Given the description of an element on the screen output the (x, y) to click on. 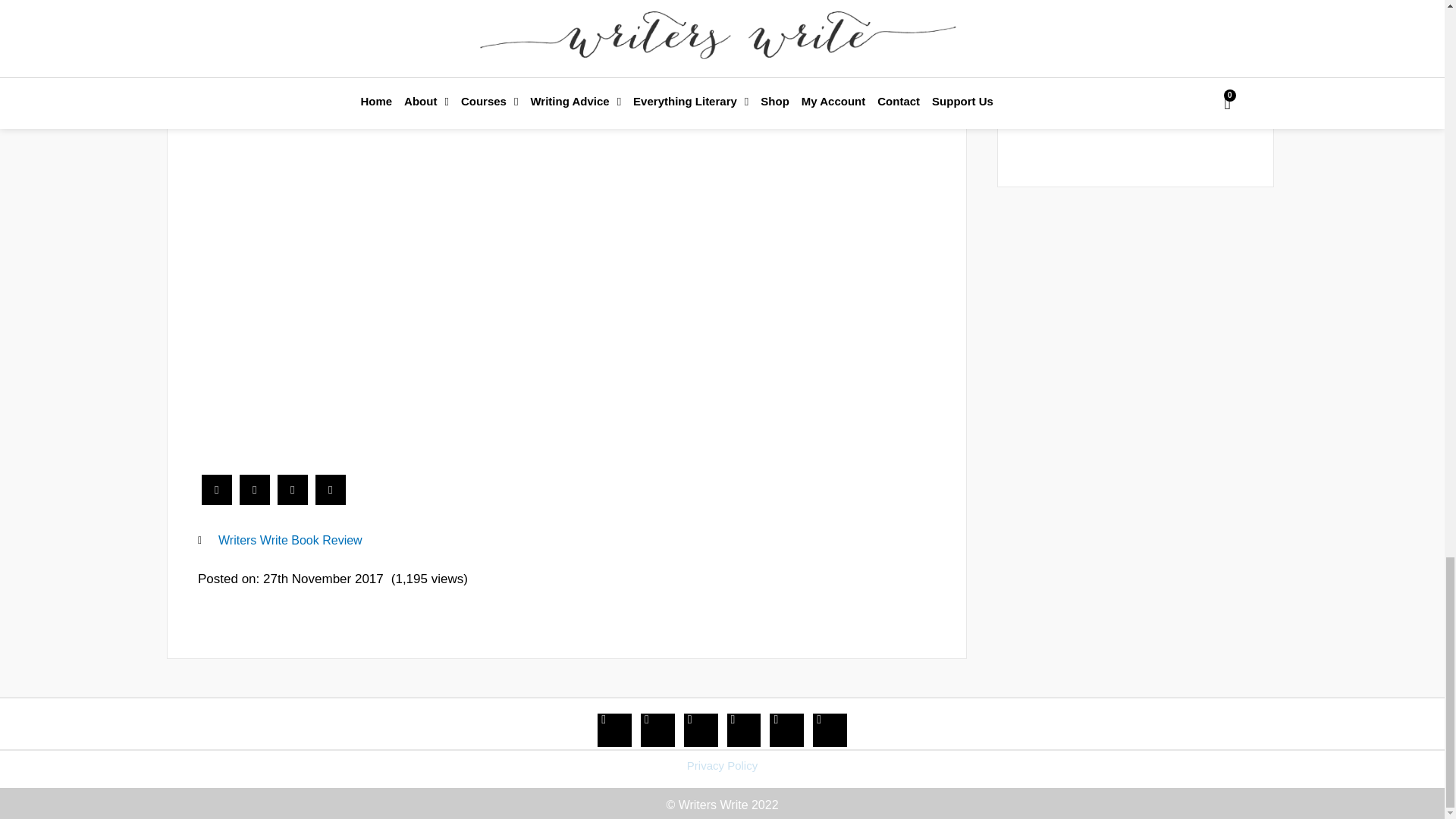
Share on Twitter (254, 500)
Share to LinkedIn (292, 500)
Share on Facebook (216, 500)
Share on Pinterest (330, 500)
